Given the description of an element on the screen output the (x, y) to click on. 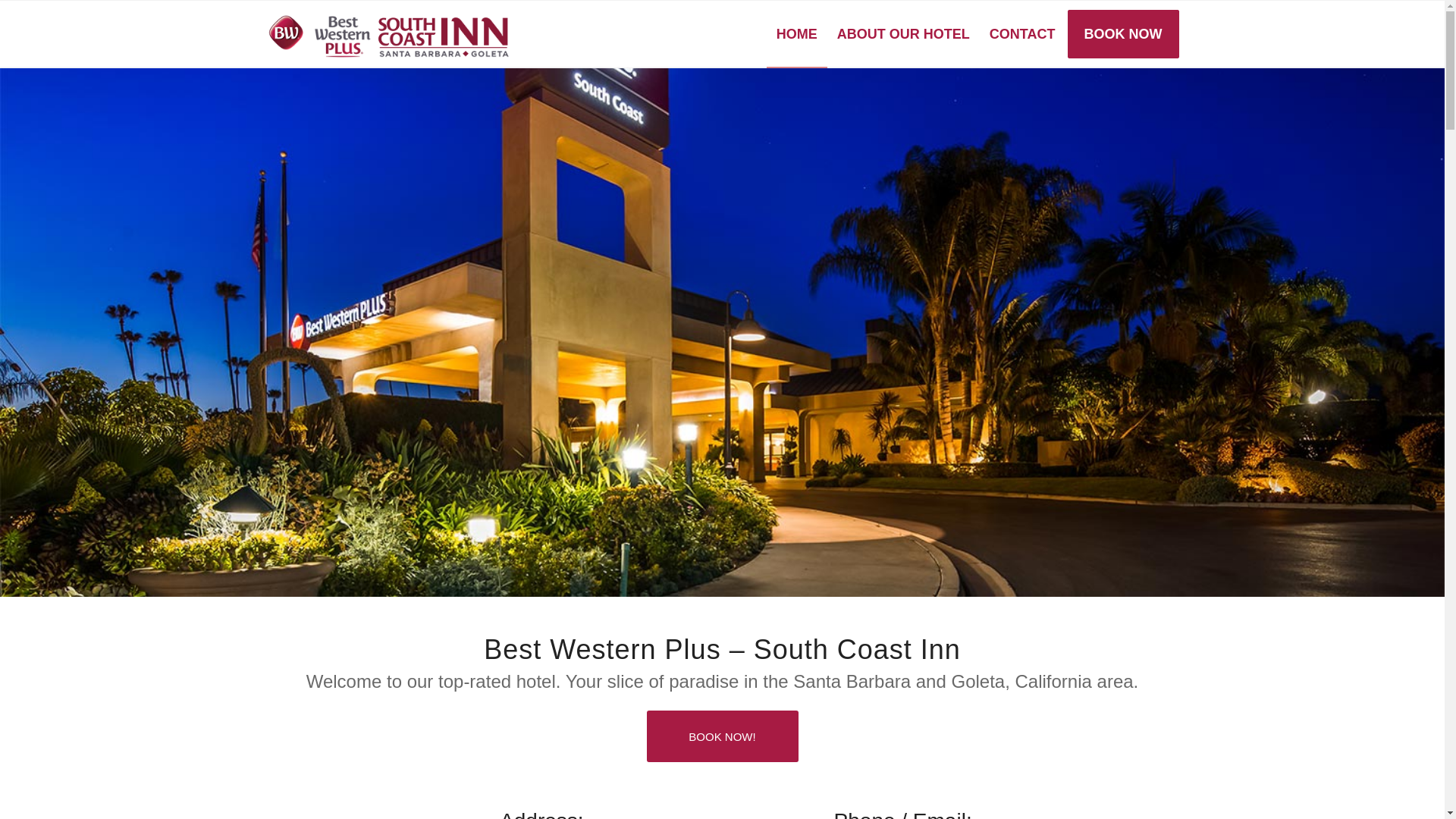
ABOUT OUR HOTEL (903, 33)
CONTACT (1022, 33)
BOOK NOW! (721, 736)
HOME (797, 33)
BOOK NOW (1122, 33)
